Given the description of an element on the screen output the (x, y) to click on. 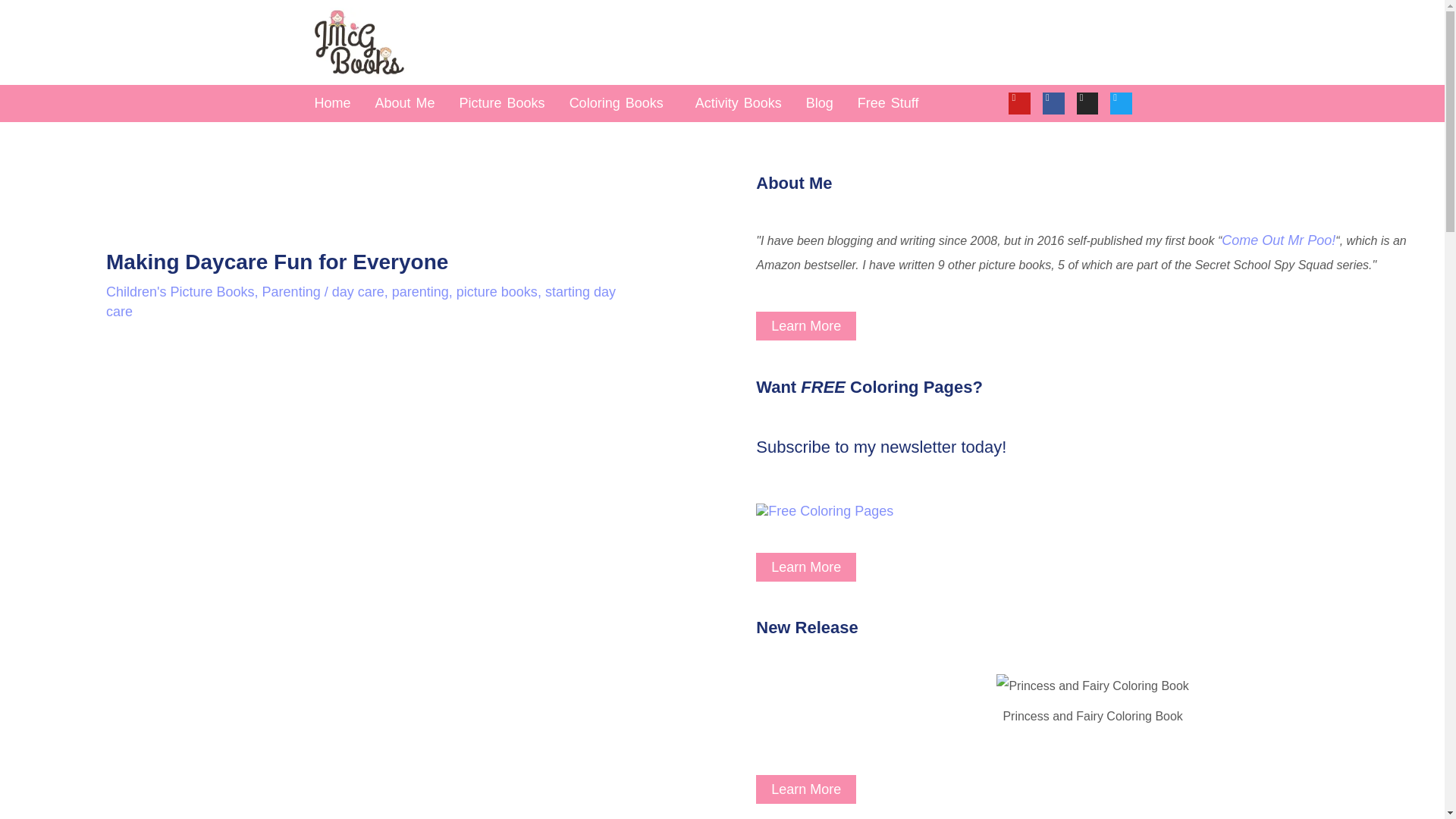
starting day care (360, 301)
Youtube (1019, 103)
picture books (497, 291)
Activity Books (738, 102)
Parenting (291, 291)
Twitter (1120, 103)
Facebook (1053, 103)
day care (357, 291)
Free Stuff (888, 102)
Home (331, 102)
About Me (405, 102)
Coloring Books (620, 102)
Blog (819, 102)
Picture Books (502, 102)
Instagram (1088, 103)
